Given the description of an element on the screen output the (x, y) to click on. 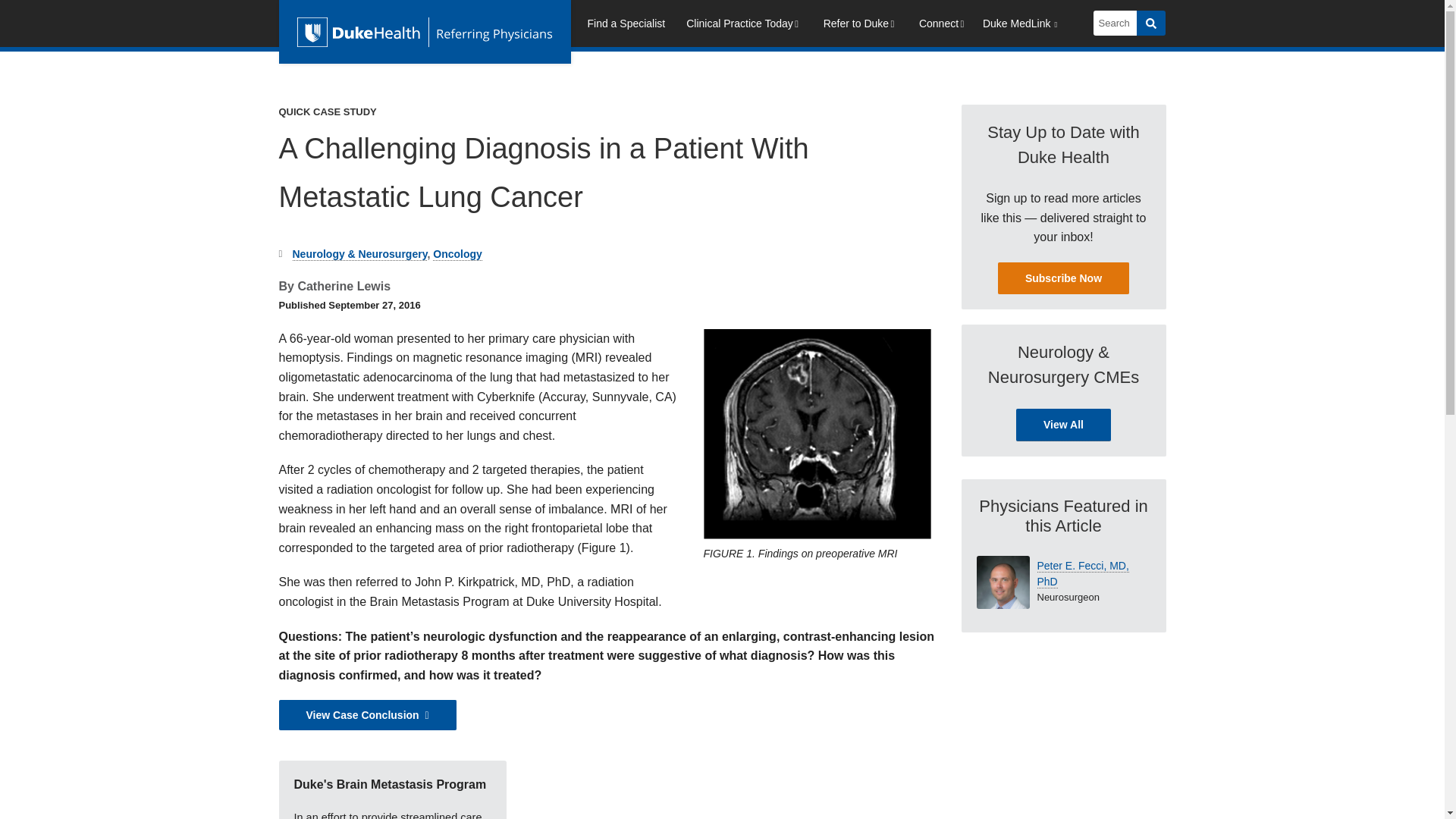
Find a Specialist (625, 25)
Connect (943, 25)
Clinical Practice Today (743, 25)
Duke Health Referring Physicians (424, 31)
Refer to Duke (860, 25)
Duke Health Referring Physicians Home (424, 31)
